Given the description of an element on the screen output the (x, y) to click on. 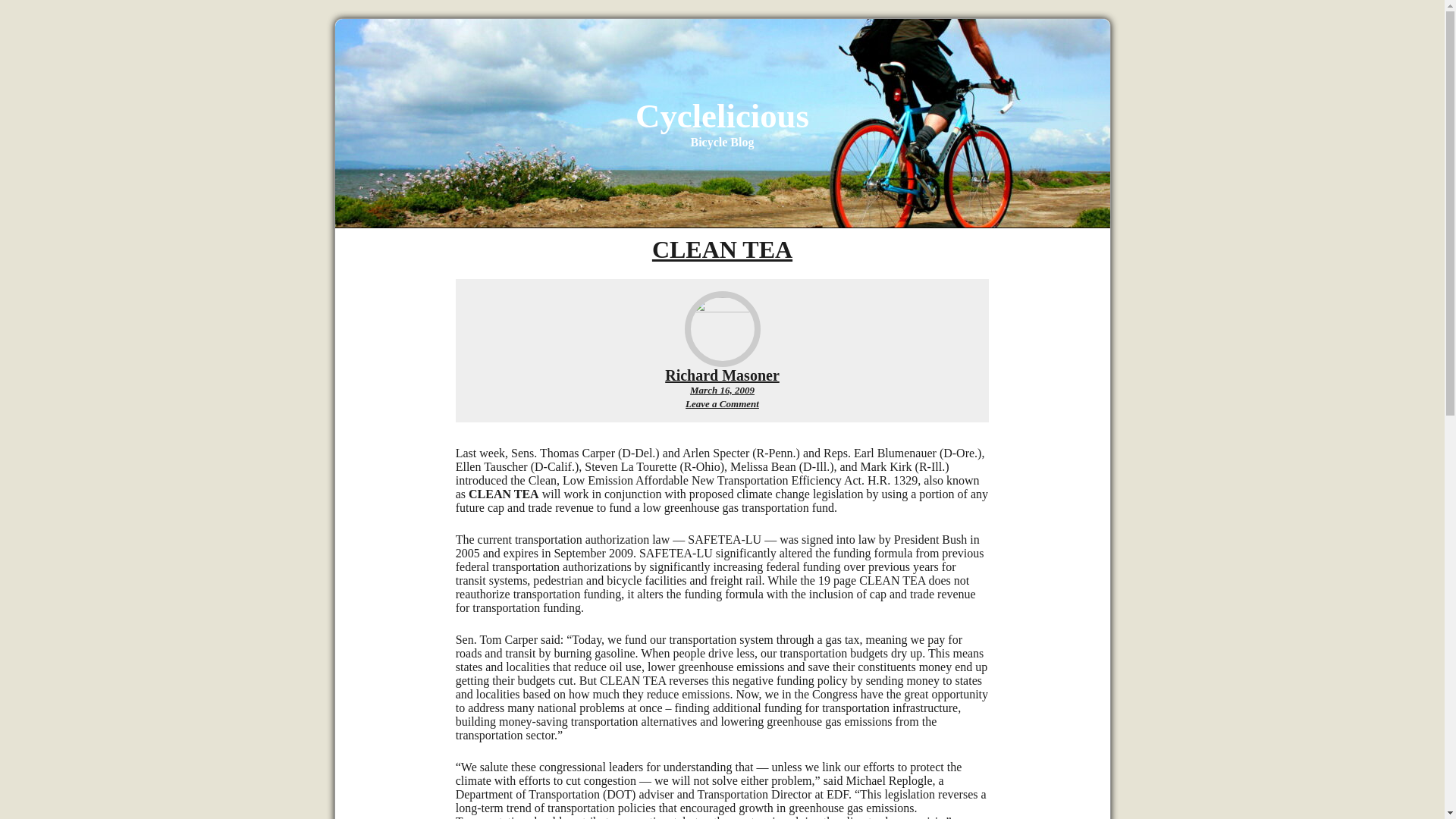
Cyclelicious (721, 116)
Richard Masoner (721, 375)
View all posts by Richard Masoner (721, 375)
Leave a Comment (721, 403)
9:00 am (722, 389)
CLEAN TEA (722, 248)
March 16, 2009 (722, 389)
